Given the description of an element on the screen output the (x, y) to click on. 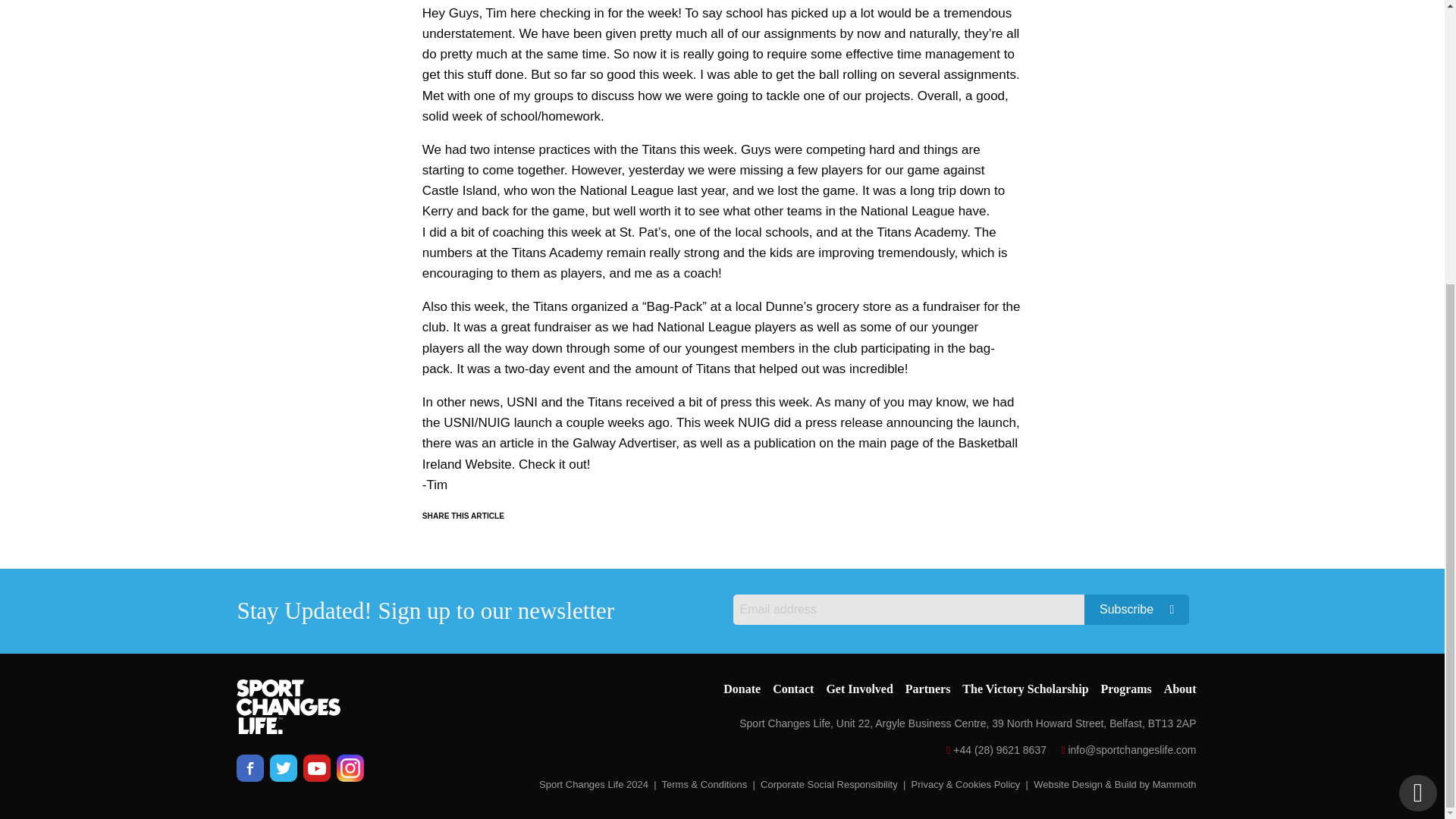
About (1179, 688)
Partners (927, 688)
Programs (1125, 688)
The Victory Scholarship (1024, 688)
Subscribe (1136, 609)
